Given the description of an element on the screen output the (x, y) to click on. 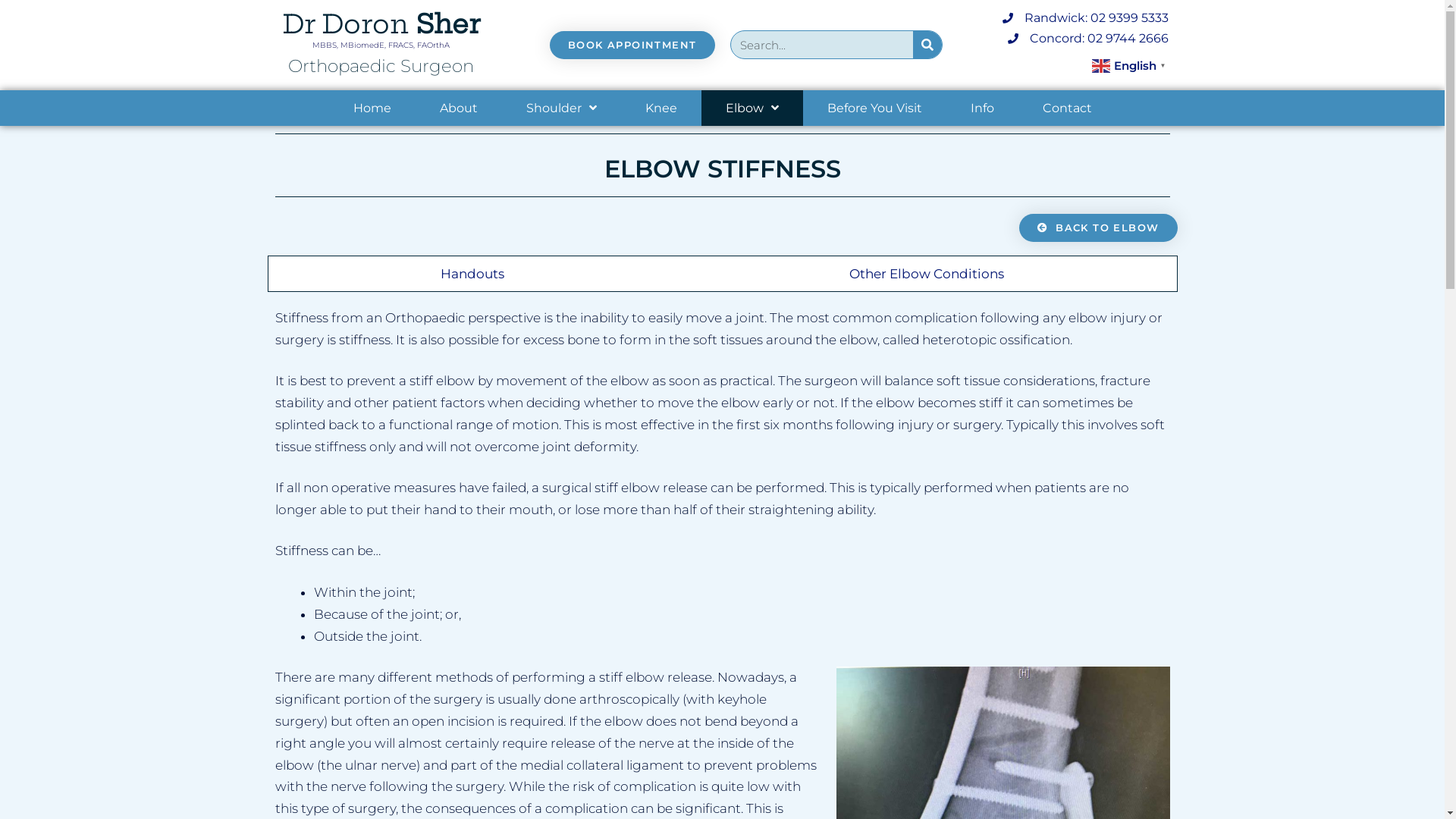
Randwick: 02 9399 5333 Element type: text (1062, 17)
Other Elbow Conditions Element type: text (926, 273)
Home Element type: text (372, 107)
Dr Doron Sher Element type: text (380, 23)
Info Element type: text (982, 107)
BACK TO ELBOW Element type: text (1098, 227)
BOOK APPOINTMENT Element type: text (631, 45)
Knee Element type: text (660, 107)
About Element type: text (458, 107)
Before You Visit Element type: text (873, 107)
Concord: 02 9744 2666 Element type: text (1062, 38)
Shoulder Element type: text (561, 107)
Contact Element type: text (1066, 107)
Elbow Element type: text (751, 107)
Handouts Element type: text (472, 273)
